Given the description of an element on the screen output the (x, y) to click on. 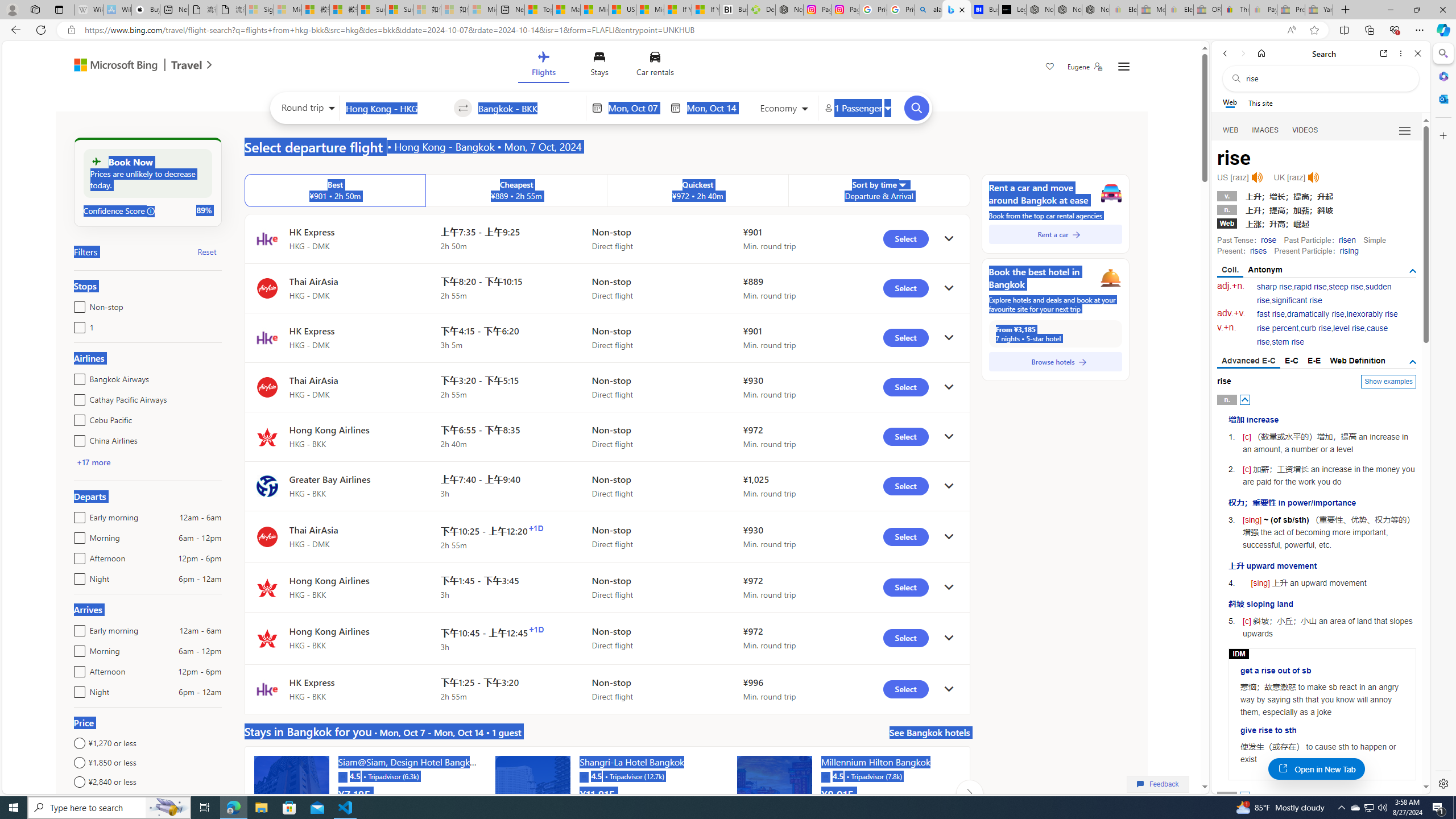
Threats and offensive language policy | eBay (1235, 9)
Leaving from? (396, 107)
Sorter (901, 184)
Bangkok Airways (76, 376)
Flight logo (267, 689)
cause rise (1322, 335)
